Given the description of an element on the screen output the (x, y) to click on. 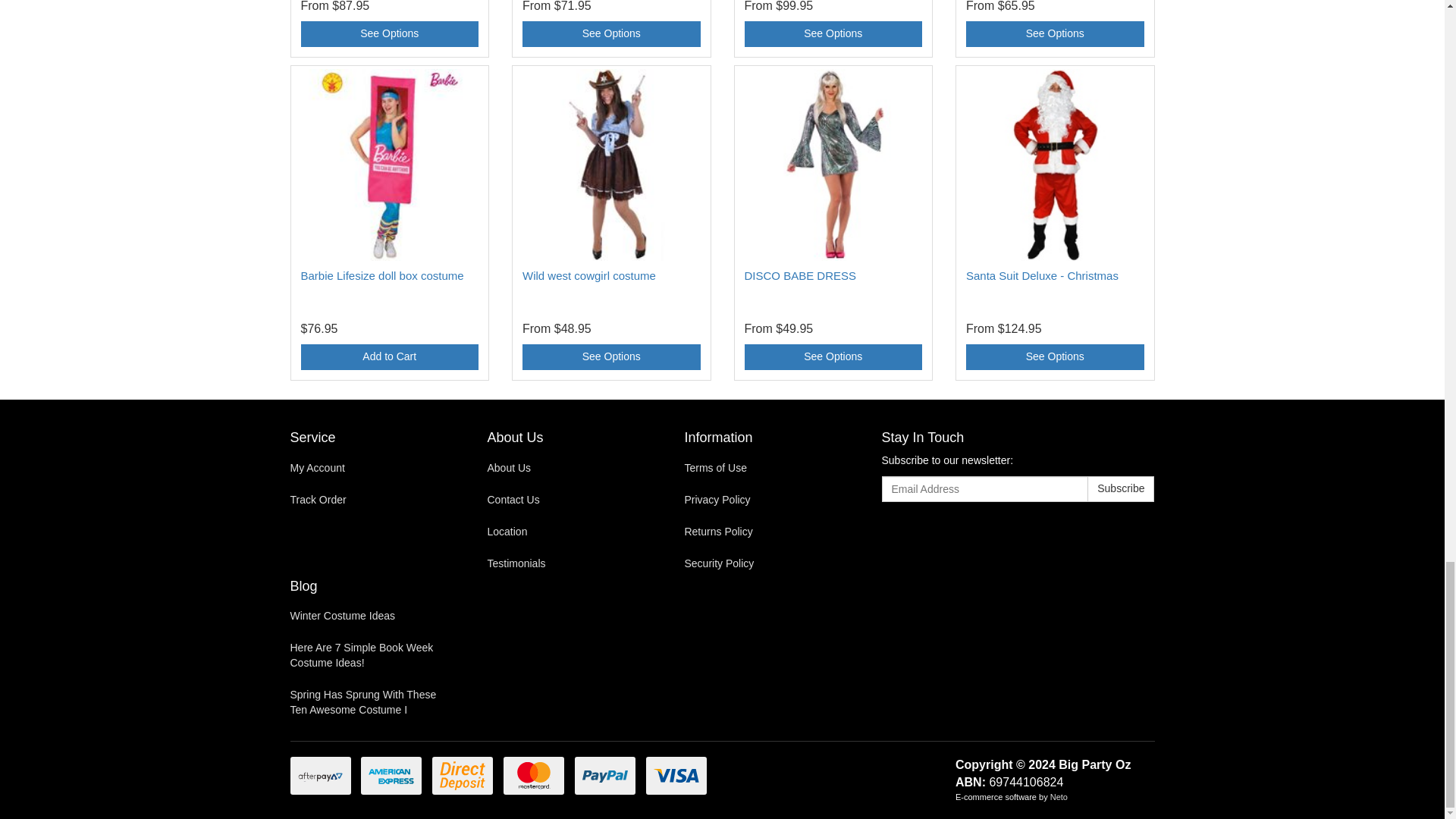
Buying Options (833, 33)
Subscribe (1120, 488)
Buying Options (611, 33)
Buying Options (1055, 33)
Buying Options (389, 33)
